Given the description of an element on the screen output the (x, y) to click on. 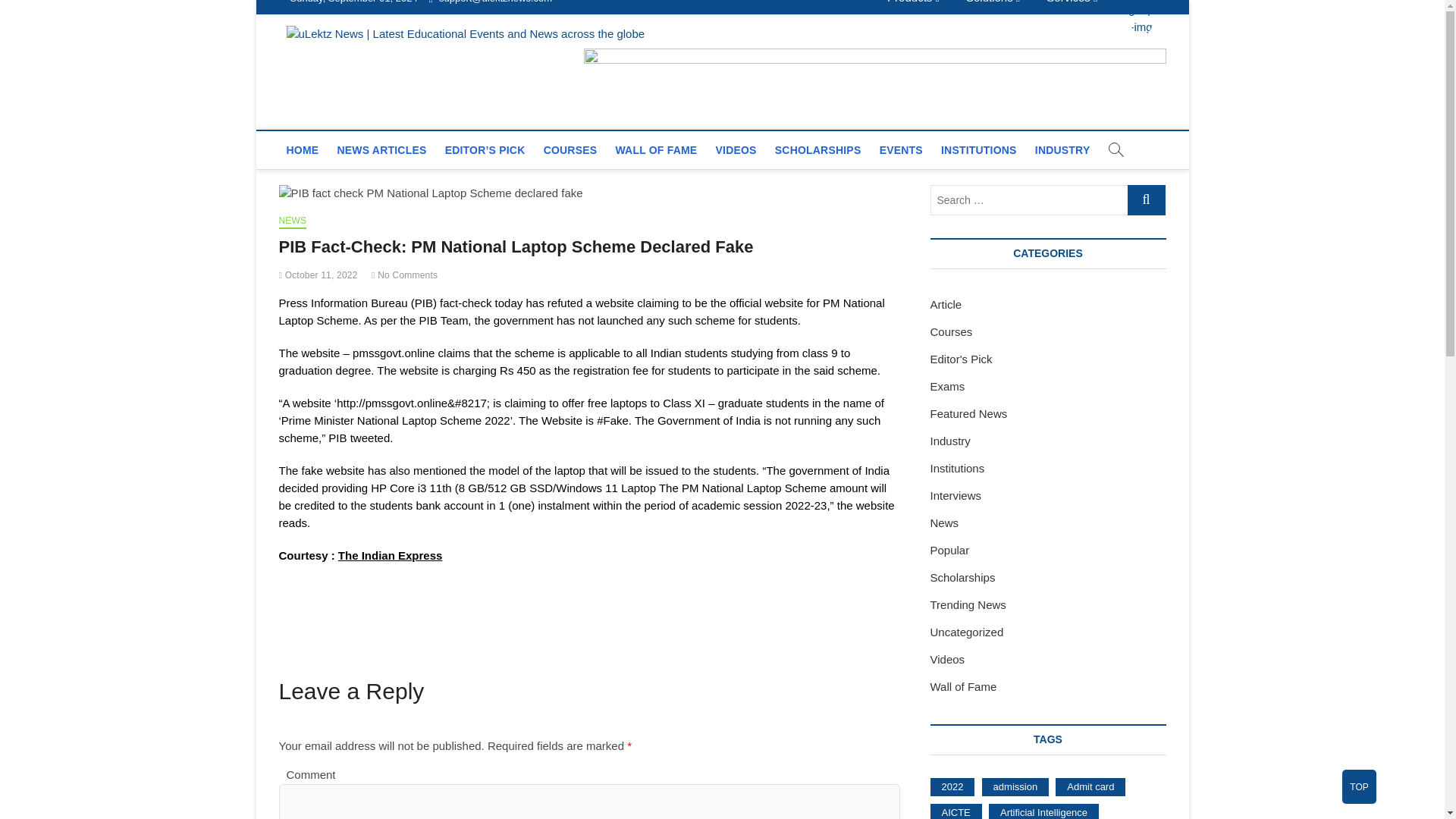
Services (1072, 5)
Solutions (992, 5)
NEWS ARTICLES (381, 149)
Products (913, 5)
HOME (302, 149)
Mail Us (490, 2)
